Given the description of an element on the screen output the (x, y) to click on. 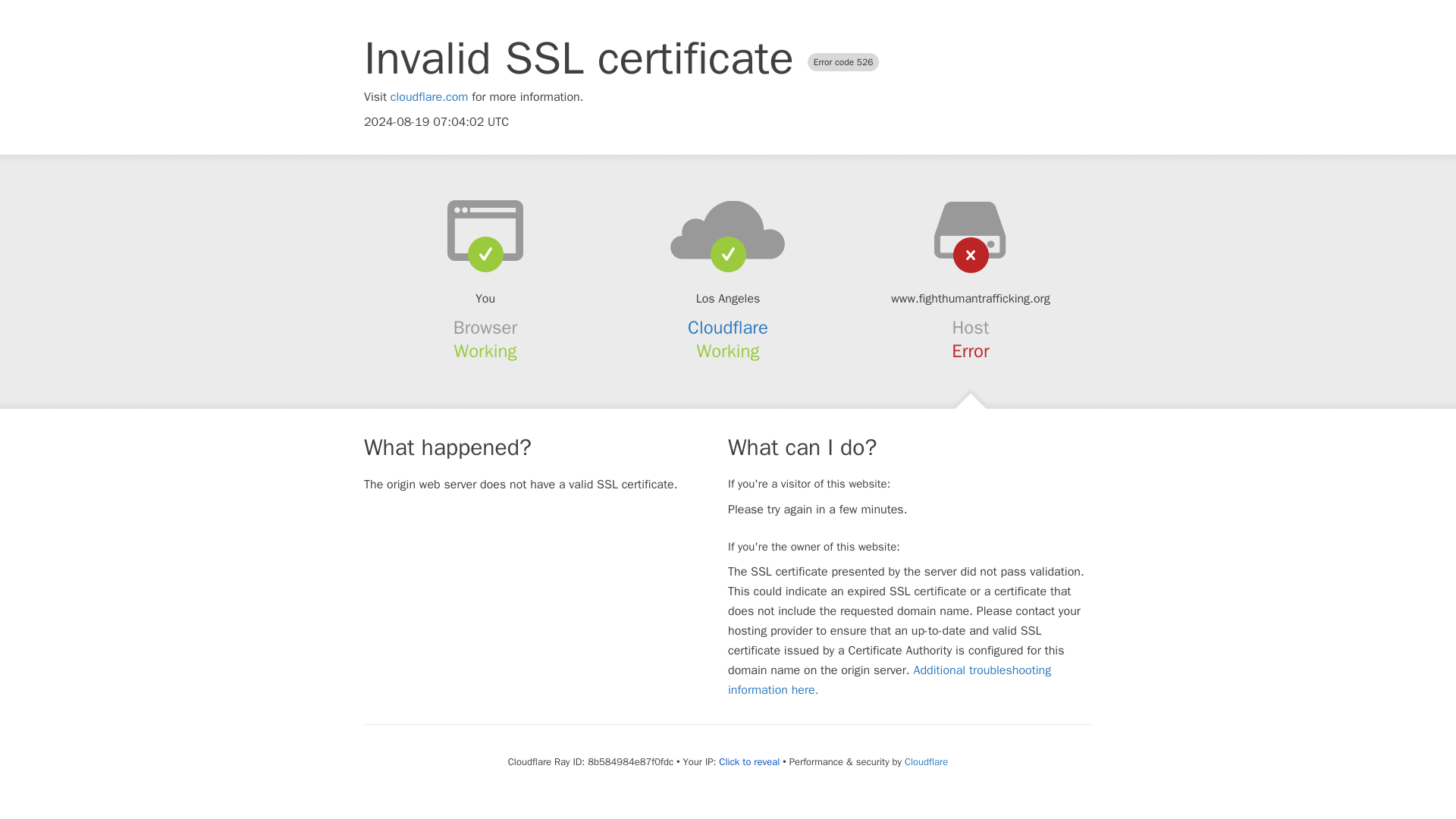
Additional troubleshooting information here. (889, 679)
Cloudflare (727, 327)
Cloudflare (925, 761)
Click to reveal (748, 762)
cloudflare.com (429, 96)
